Given the description of an element on the screen output the (x, y) to click on. 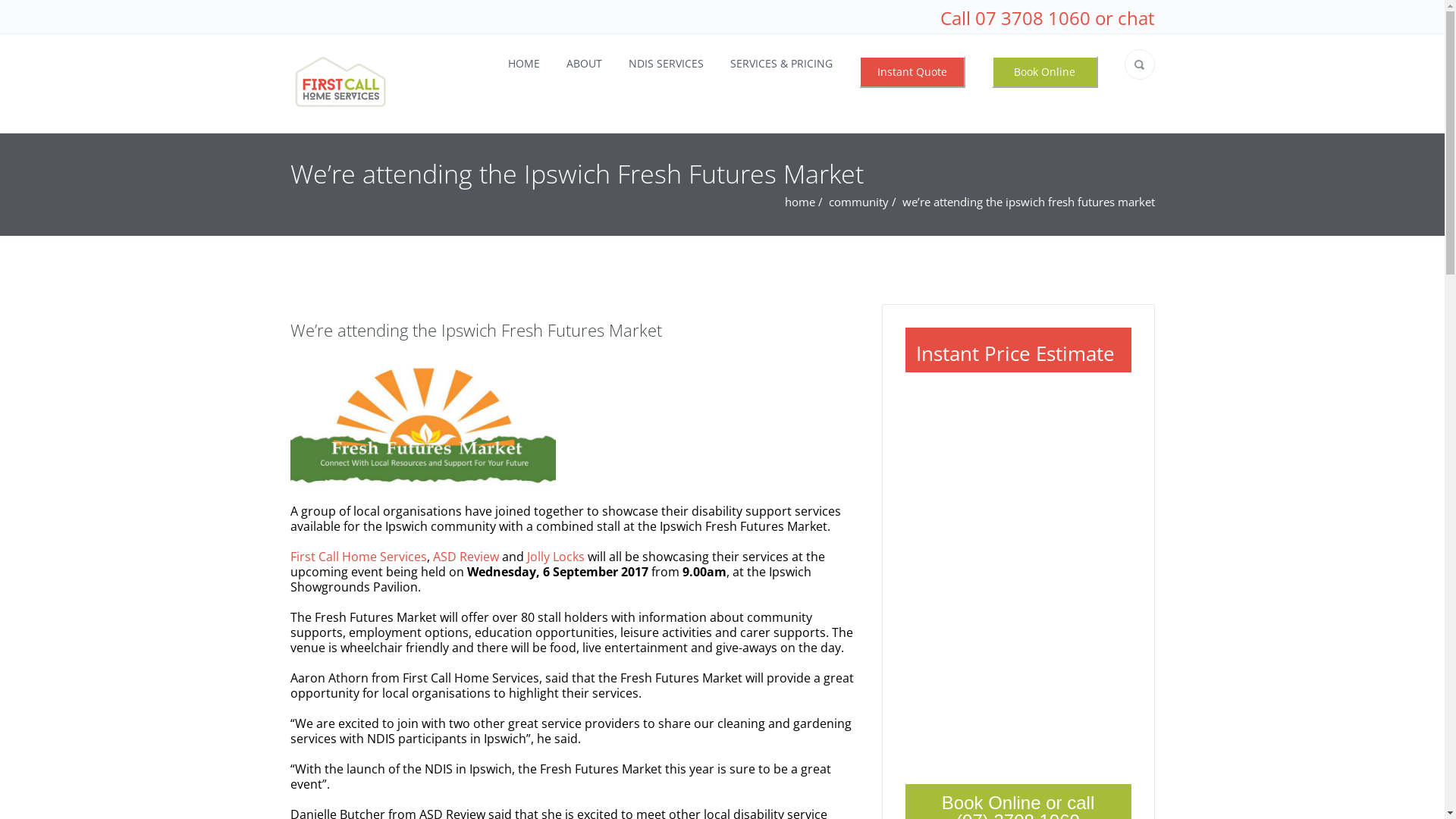
Instant Quote Element type: text (911, 71)
chat Element type: text (1135, 17)
First Call Home Services Element type: text (357, 556)
Jolly Locks Element type: text (554, 556)
Book Online Element type: text (1044, 71)
ABOUT Element type: text (583, 63)
ASD Review Element type: text (465, 556)
NDIS SERVICES Element type: text (664, 63)
SERVICES & PRICING Element type: text (780, 63)
HOME Element type: text (523, 63)
community Element type: text (858, 201)
Instant Quote Element type: text (911, 71)
home Element type: text (800, 201)
Call 07 3708 1060 Element type: text (1015, 17)
Book Online Element type: text (1044, 71)
